Given the description of an element on the screen output the (x, y) to click on. 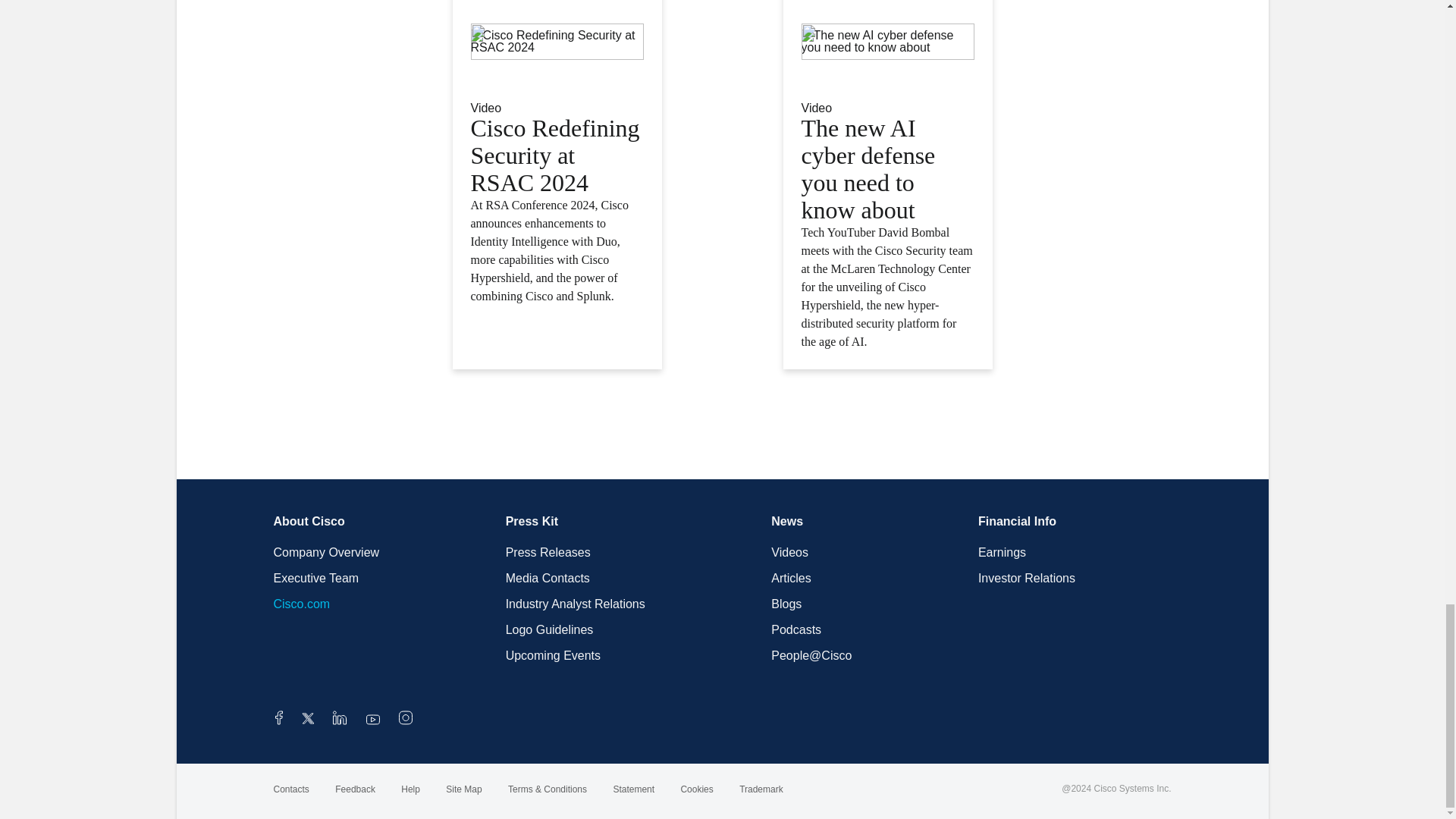
twitter (309, 720)
instagram (405, 720)
youtube (373, 720)
linkedin (340, 720)
